Given the description of an element on the screen output the (x, y) to click on. 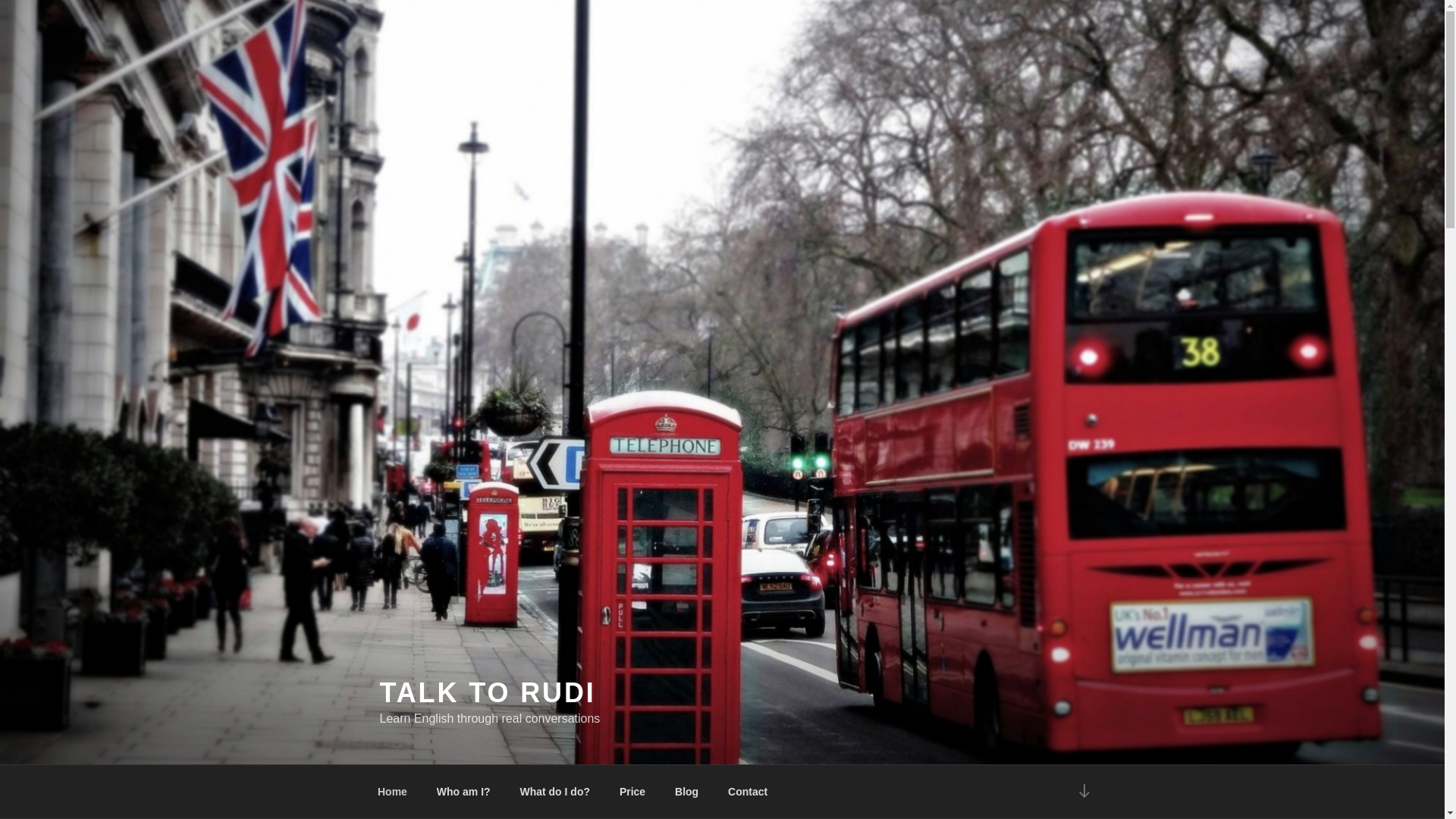
Who am I? (463, 791)
Contact (747, 791)
What do I do? (555, 791)
Home (392, 791)
TALK TO RUDI (486, 692)
Blog (686, 791)
Price (631, 791)
Scroll down to content (1082, 791)
Scroll down to content (1082, 791)
